Given the description of an element on the screen output the (x, y) to click on. 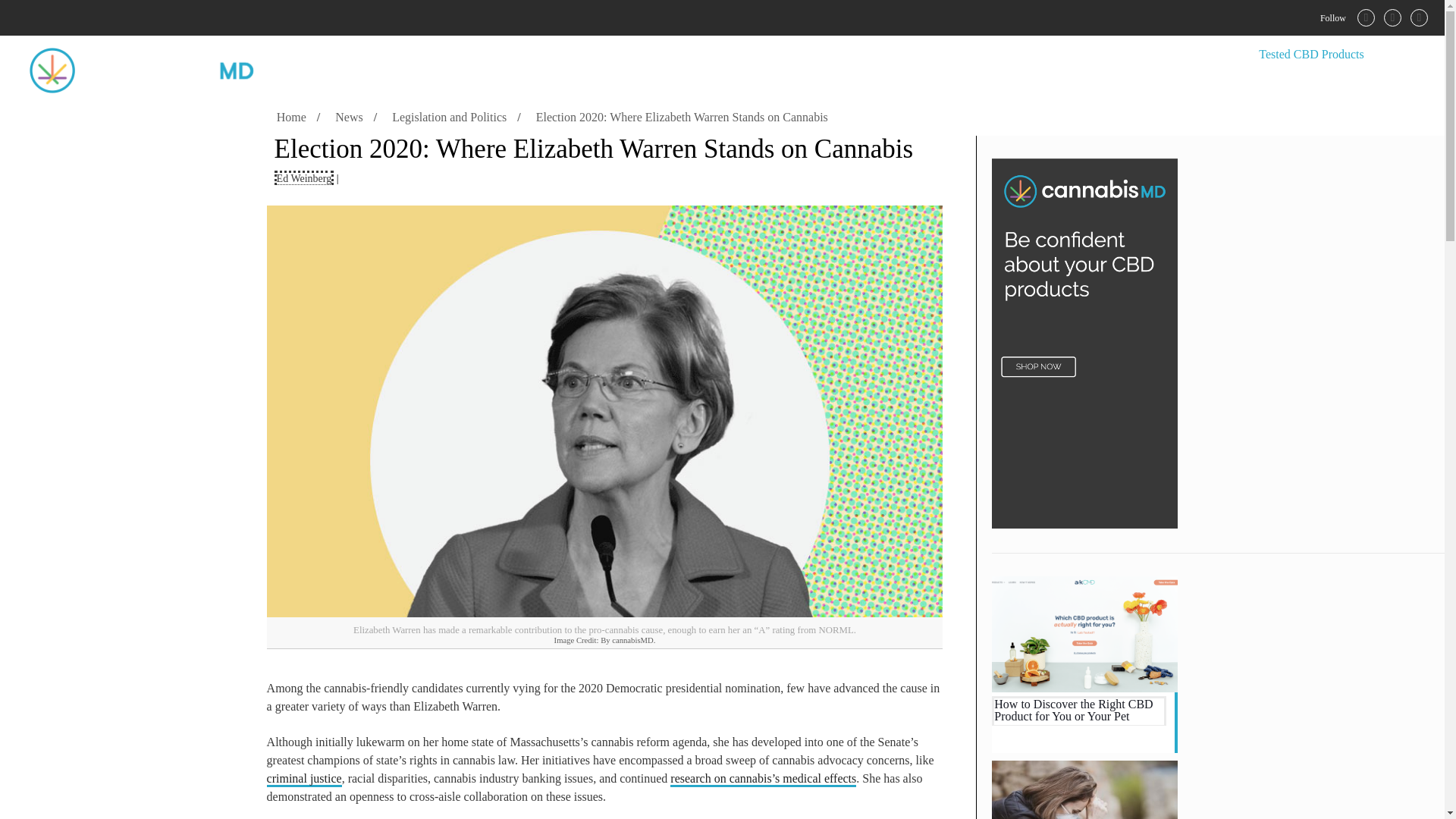
Instagram (1418, 17)
cannabisMD (141, 70)
The Basics (1202, 55)
Lifestyle (1123, 55)
News (992, 55)
Twitter (1392, 17)
Facebook (1366, 17)
Wellness (926, 55)
Beauty (1054, 55)
